Given the description of an element on the screen output the (x, y) to click on. 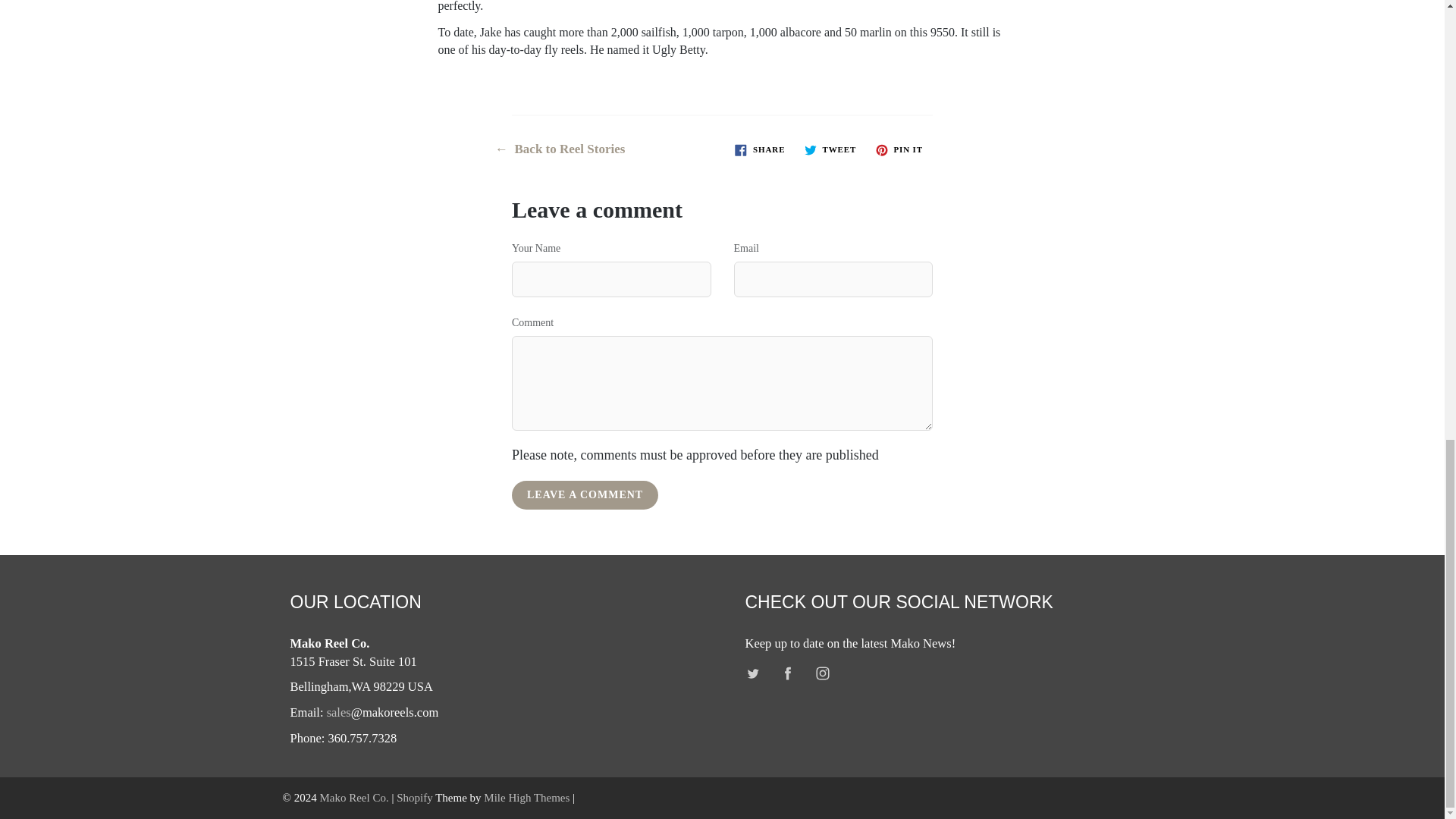
Tweet on Twitter (829, 149)
Share on Facebook (759, 149)
Pin on Pinterest (898, 149)
Page 1 (722, 33)
Instagram (822, 673)
Facebook (788, 673)
Twitter (753, 673)
